Given the description of an element on the screen output the (x, y) to click on. 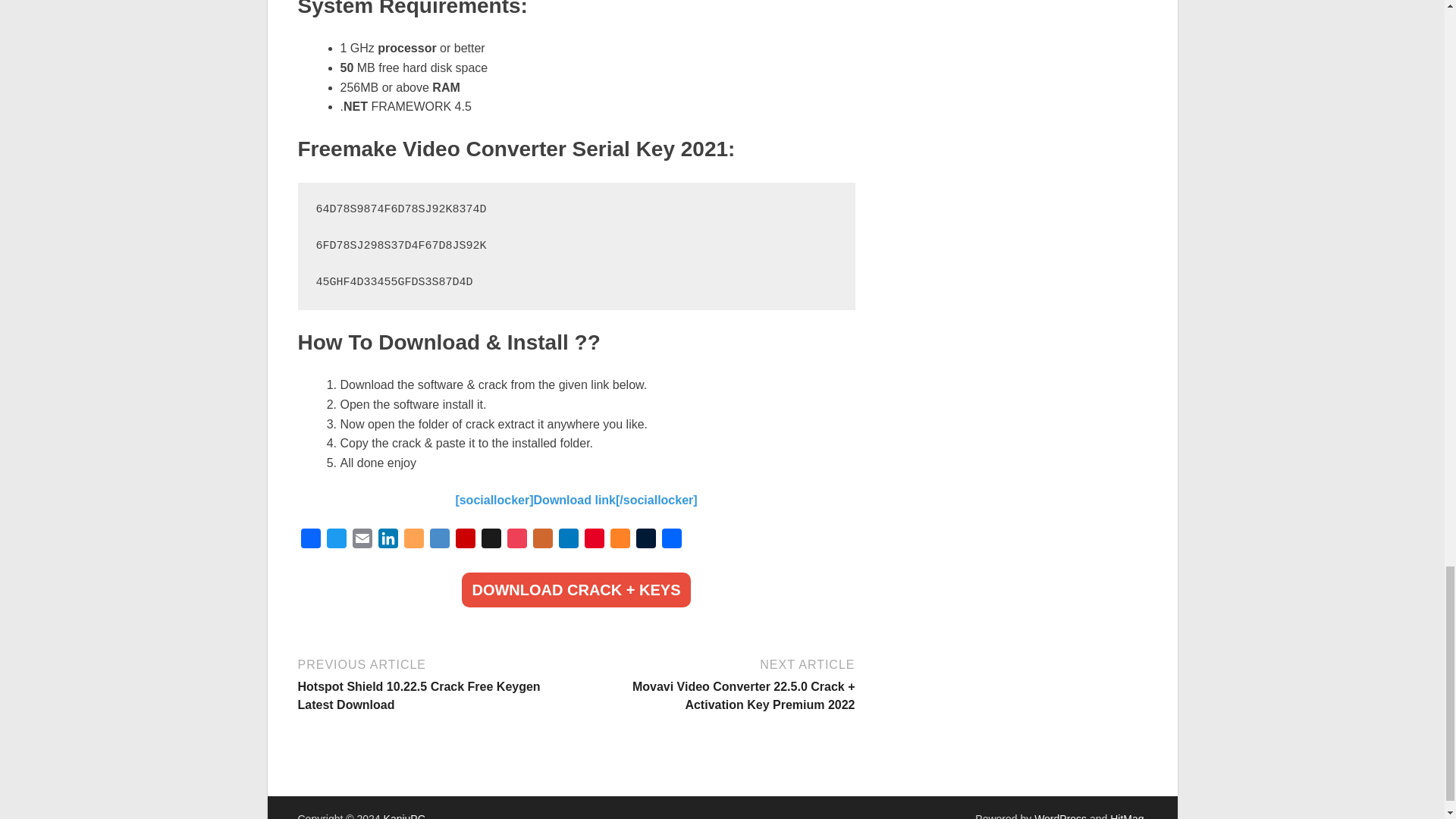
Facebook (310, 541)
Pocket (516, 541)
Mix (619, 541)
Pinterest (593, 541)
Instapaper (490, 541)
Facebook (310, 541)
Plurk (541, 541)
LinkedIn (387, 541)
Trello (567, 541)
Flipboard (464, 541)
Blogger (413, 541)
Tumblr (644, 541)
Blogger (413, 541)
Instapaper (490, 541)
Twitter (336, 541)
